Given the description of an element on the screen output the (x, y) to click on. 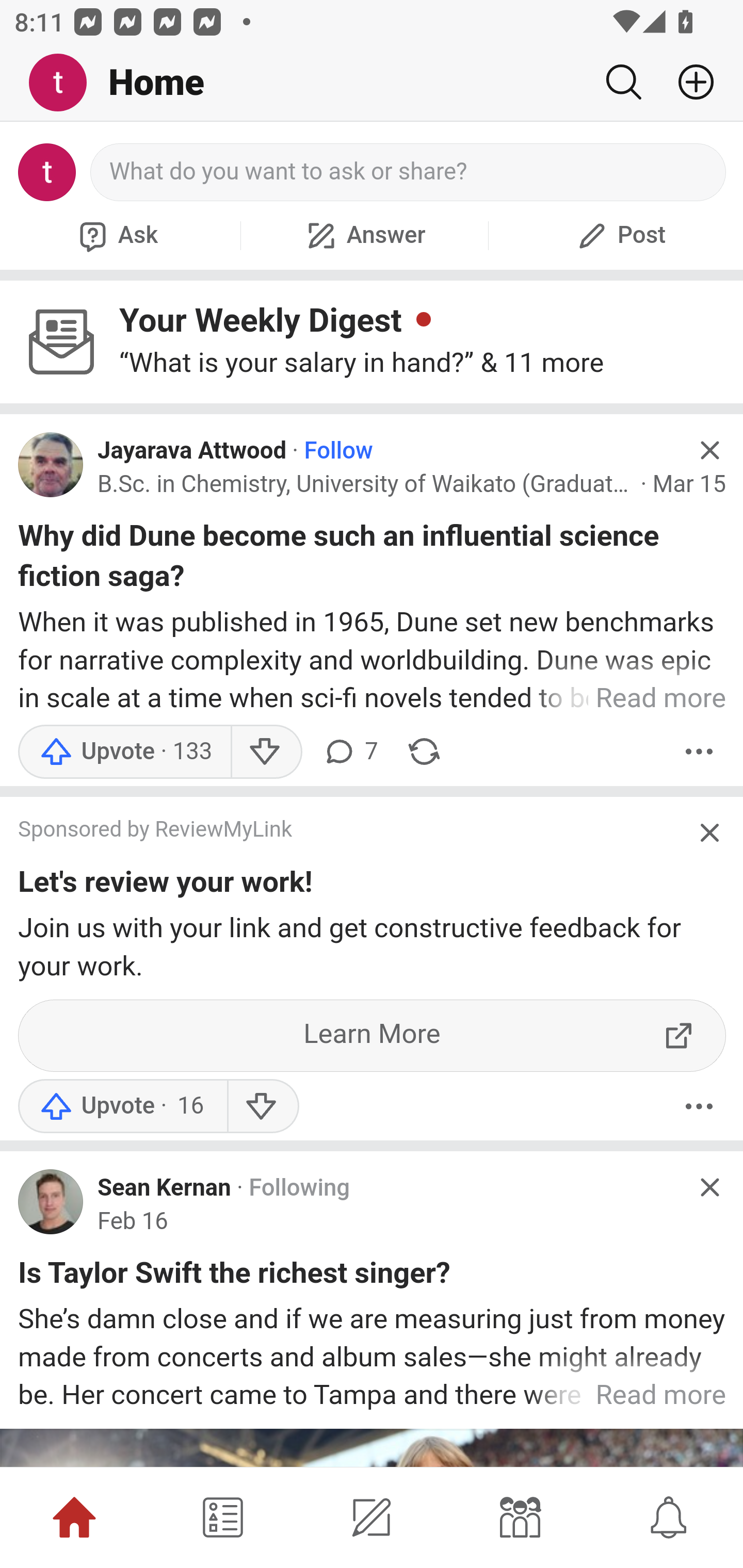
Me Home Search Add (371, 82)
Me (64, 83)
Search (623, 82)
Add (688, 82)
